Given the description of an element on the screen output the (x, y) to click on. 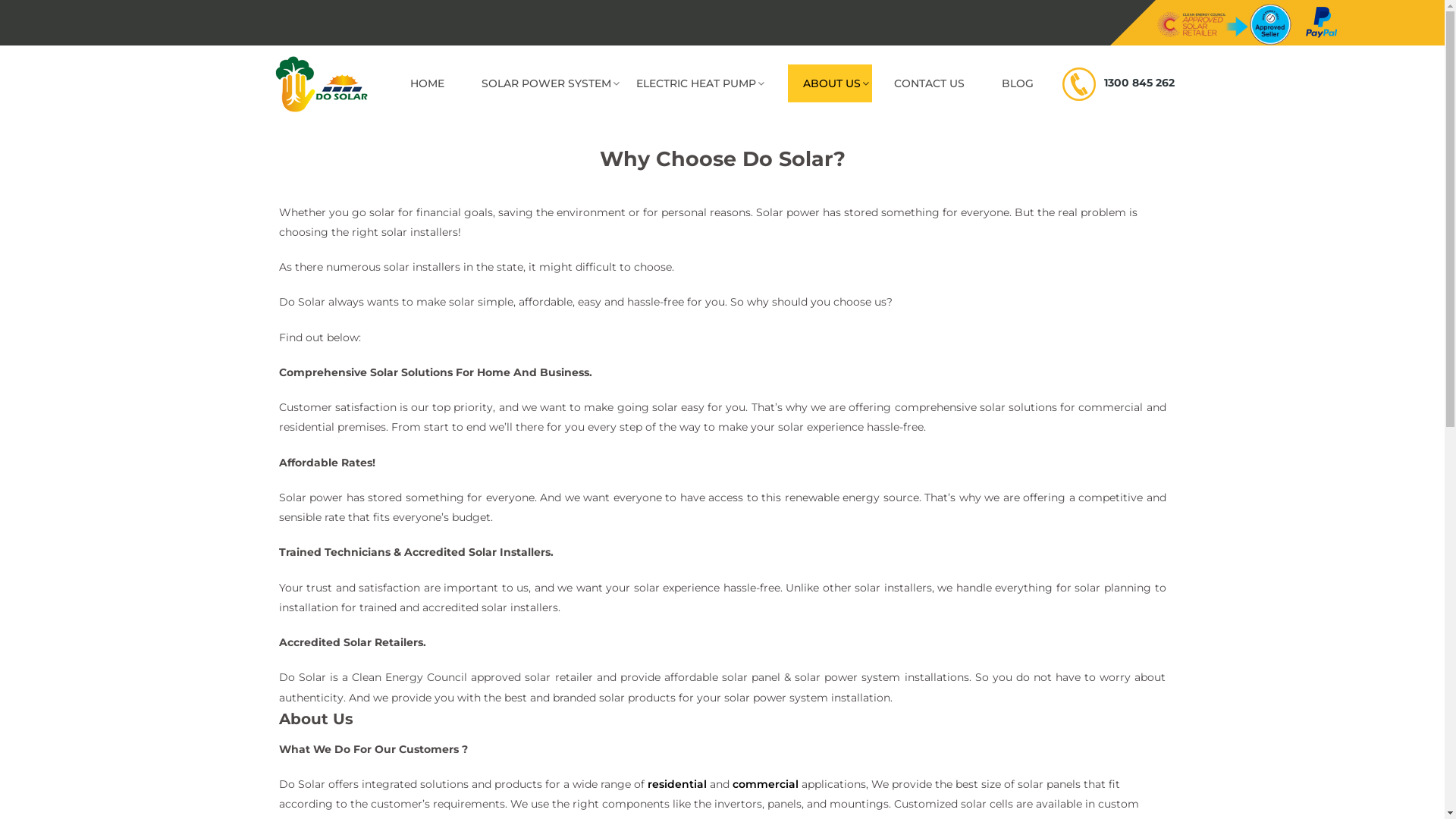
BLOG Element type: text (1016, 83)
ABOUT US Element type: text (829, 83)
ELECTRIC HEAT PUMP Element type: text (700, 83)
residential Element type: text (676, 783)
  1300 845 262 Element type: text (1135, 83)
HOME Element type: text (426, 83)
SOLAR POWER SYSTEM Element type: text (543, 83)
CONTACT US Element type: text (928, 83)
commercial Element type: text (765, 783)
